Given the description of an element on the screen output the (x, y) to click on. 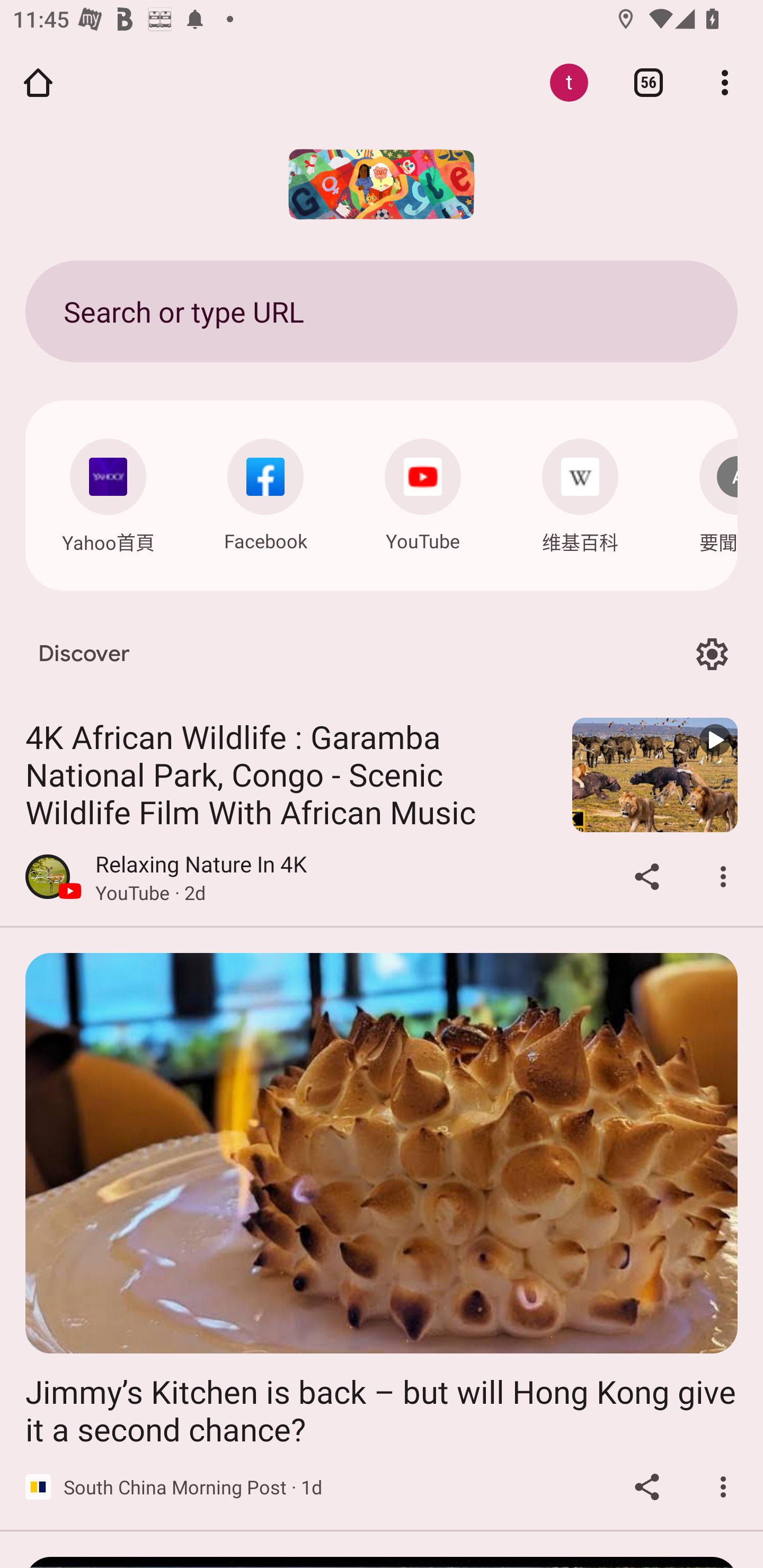
Open the home page (38, 82)
Switch or close tabs (648, 82)
Customize and control Google Chrome (724, 82)
Google doodle: 2024 年国际妇女节 (381, 183)
Search or type URL (381, 311)
Navigate: Yahoo首頁: hk.mobi.yahoo.com Yahoo首頁 (107, 491)
Navigate: Facebook: m.facebook.com Facebook (265, 490)
Navigate: YouTube: m.youtube.com YouTube (422, 490)
Navigate: 维基百科: zh.m.wikipedia.org 维基百科 (579, 491)
Options for Discover (711, 654)
